Given the description of an element on the screen output the (x, y) to click on. 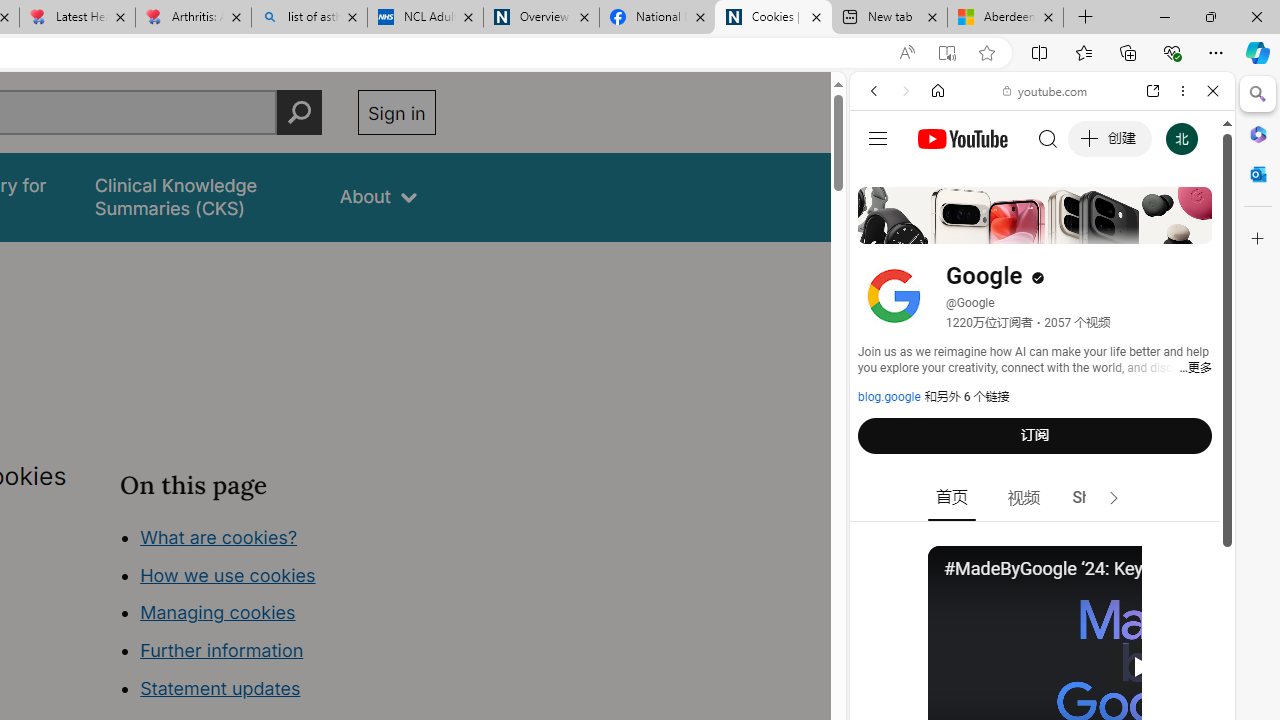
youtube.com (1046, 90)
Class: b_serphb (1190, 229)
Sign in (396, 112)
NCL Adult Asthma Inhaler Choice Guideline (424, 17)
Enter Immersive Reader (F9) (946, 53)
YouTube (1034, 296)
list of asthma inhalers uk - Search (309, 17)
